Given the description of an element on the screen output the (x, y) to click on. 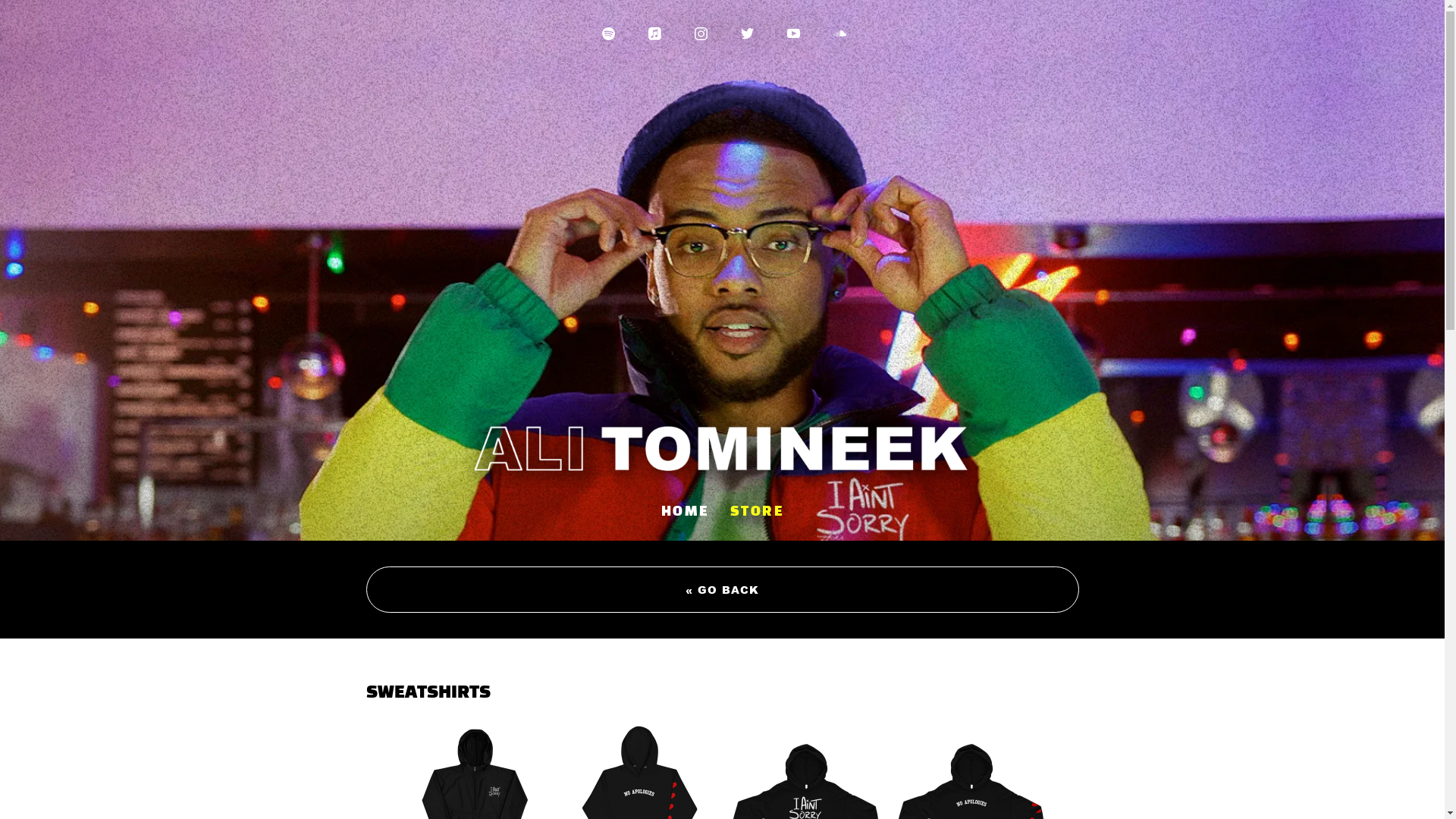
http://instagram.com/alitomineek Element type: hover (700, 33)
https://soundcloud.com/ali-tomineek Element type: hover (838, 33)
https://open.spotify.com/artist/2KcaO0L5eaYU8MwfAFmBlM Element type: hover (608, 33)
HOME Element type: text (684, 512)
http://www.youtube.com/user/alitomineek Element type: hover (793, 33)
https://music.apple.com/us/artist/ali-tomineek/491057577 Element type: hover (653, 33)
http://twitter.com/alitomineek Element type: hover (746, 33)
STORE Element type: text (756, 512)
